Given the description of an element on the screen output the (x, y) to click on. 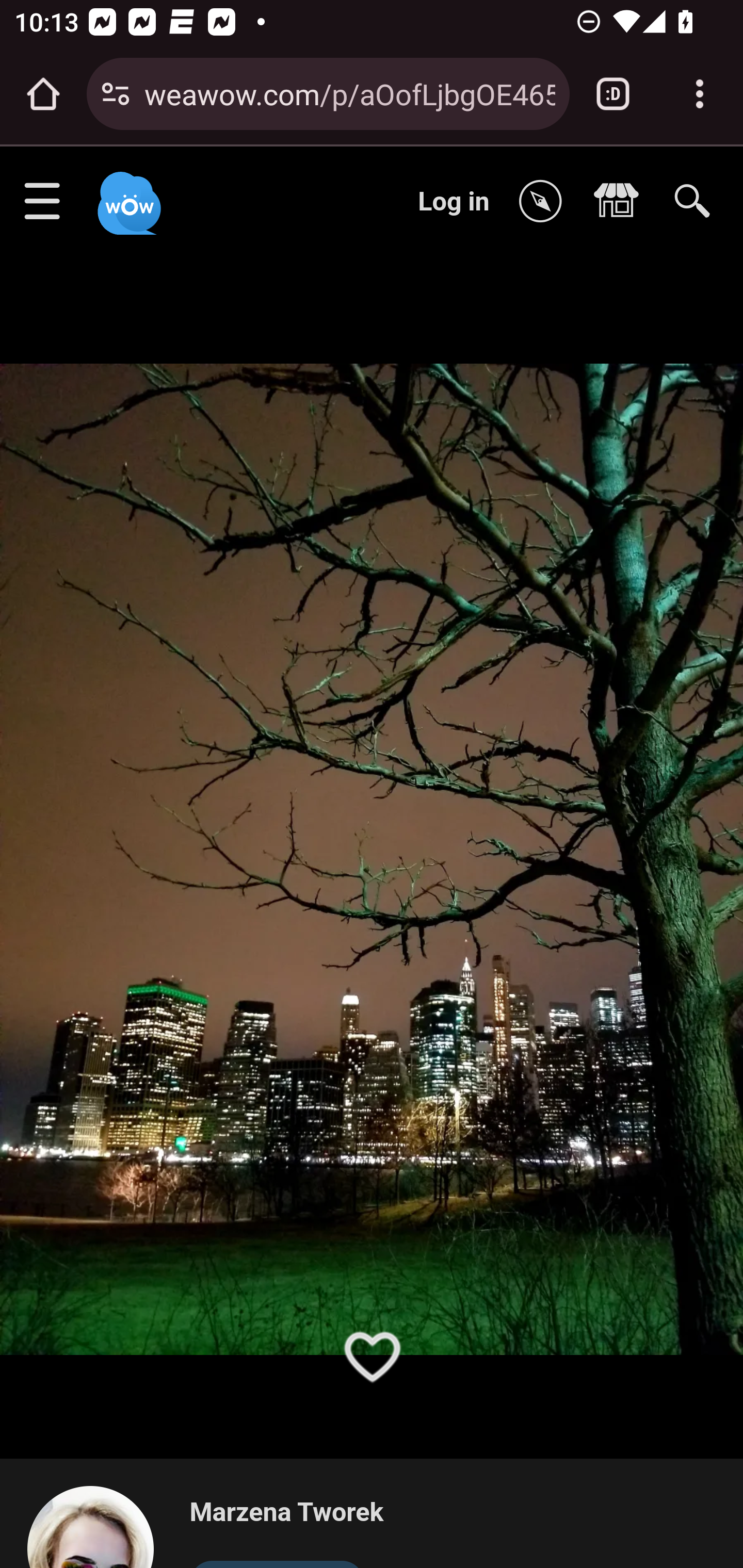
Open the home page (43, 93)
Connection is secure (115, 93)
Switch or close tabs (612, 93)
Customize and control Google Chrome (699, 93)
weawow.com/p/aOofLjbgOE46530 (349, 92)
Weawow (127, 194)
 (545, 201)
 (621, 201)
Log in (453, 201)
Marzena Tworek (285, 1513)
